Given the description of an element on the screen output the (x, y) to click on. 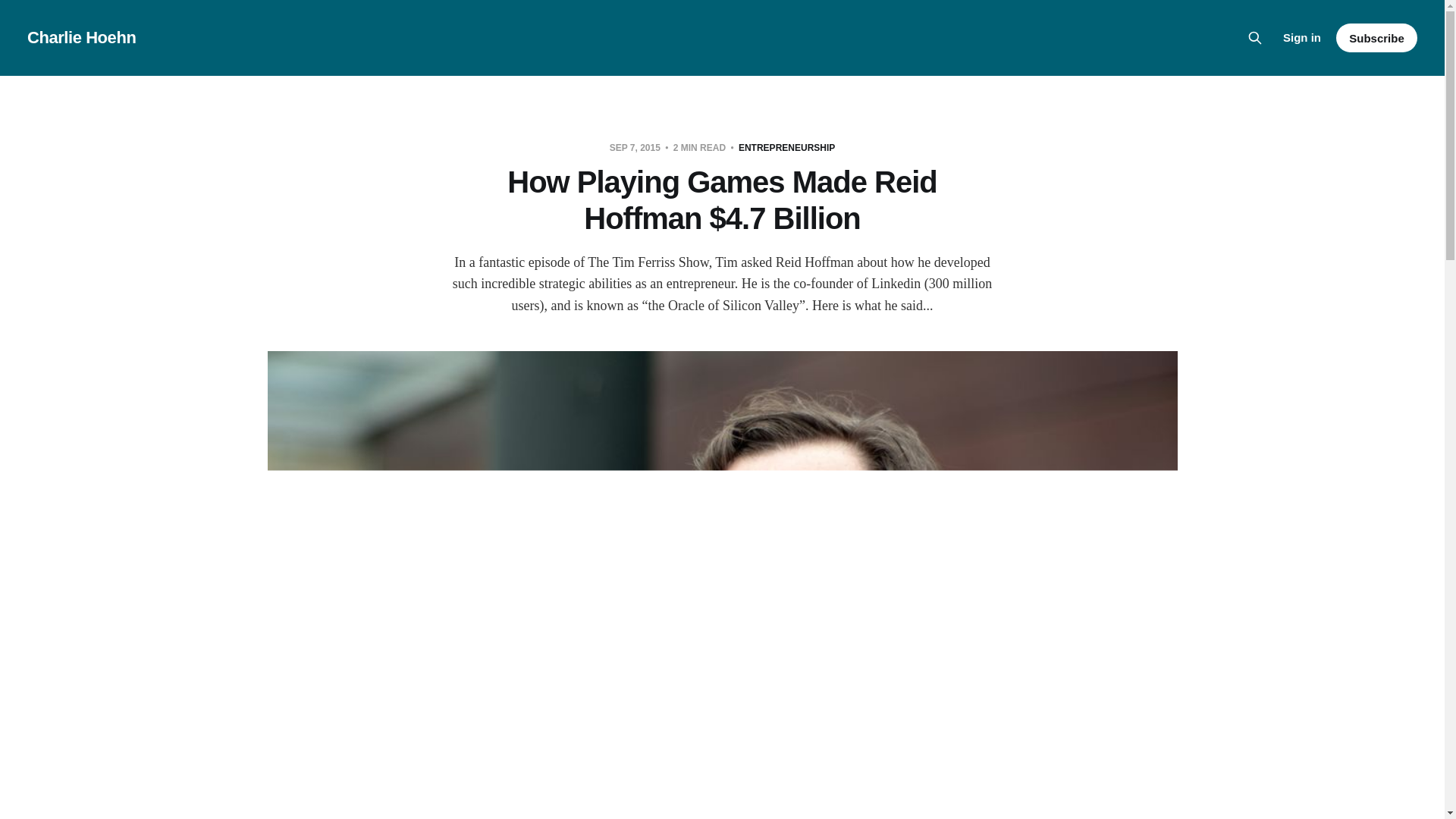
Charlie Hoehn (81, 37)
ENTREPRENEURSHIP (786, 147)
Subscribe (1376, 37)
Sign in (1301, 37)
